Given the description of an element on the screen output the (x, y) to click on. 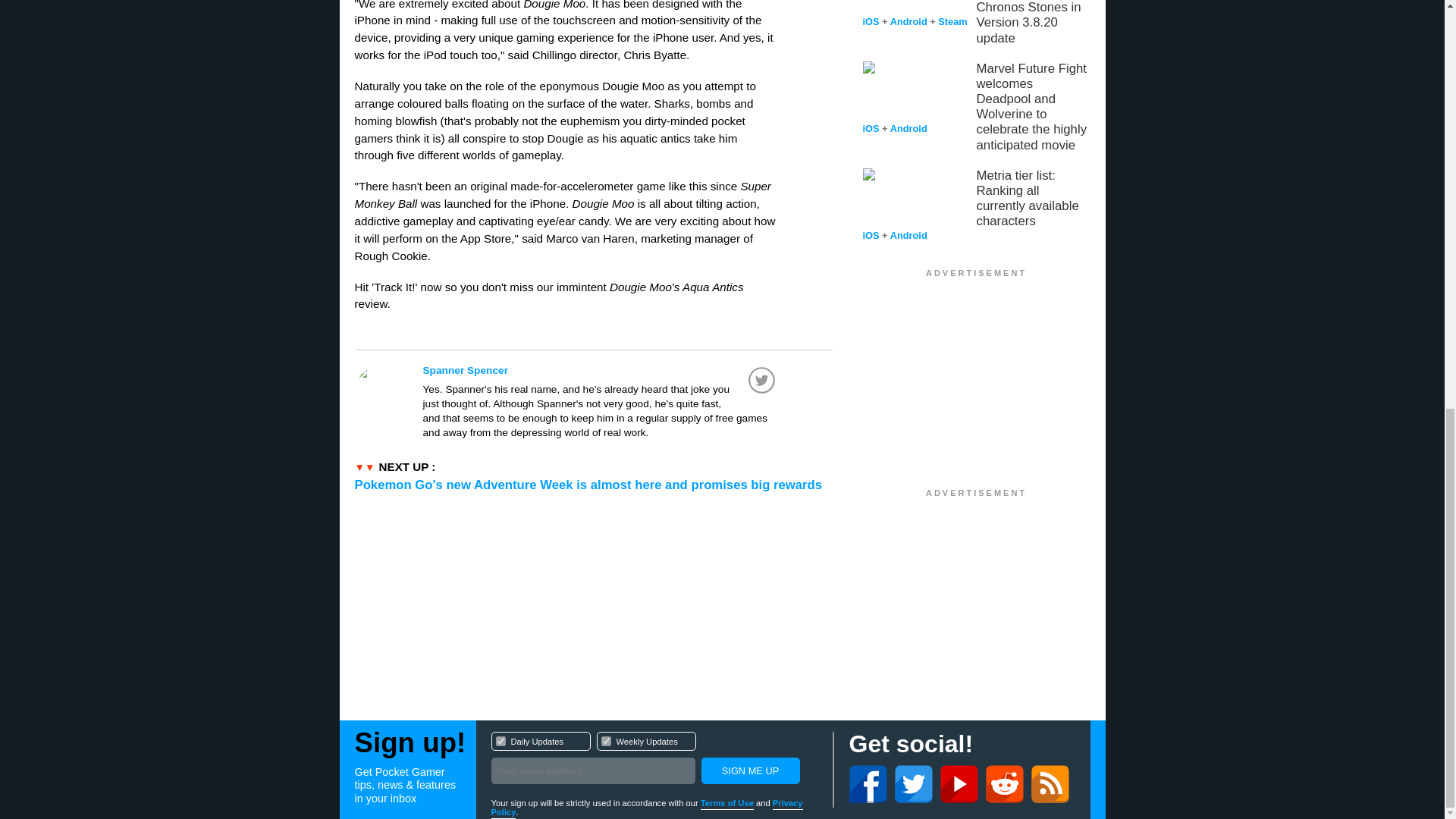
Sign Me Up (654, 759)
Spanner Spencer (749, 770)
2 (600, 370)
Terms of Use (604, 741)
Sign Me Up (727, 803)
1 (749, 770)
